Given the description of an element on the screen output the (x, y) to click on. 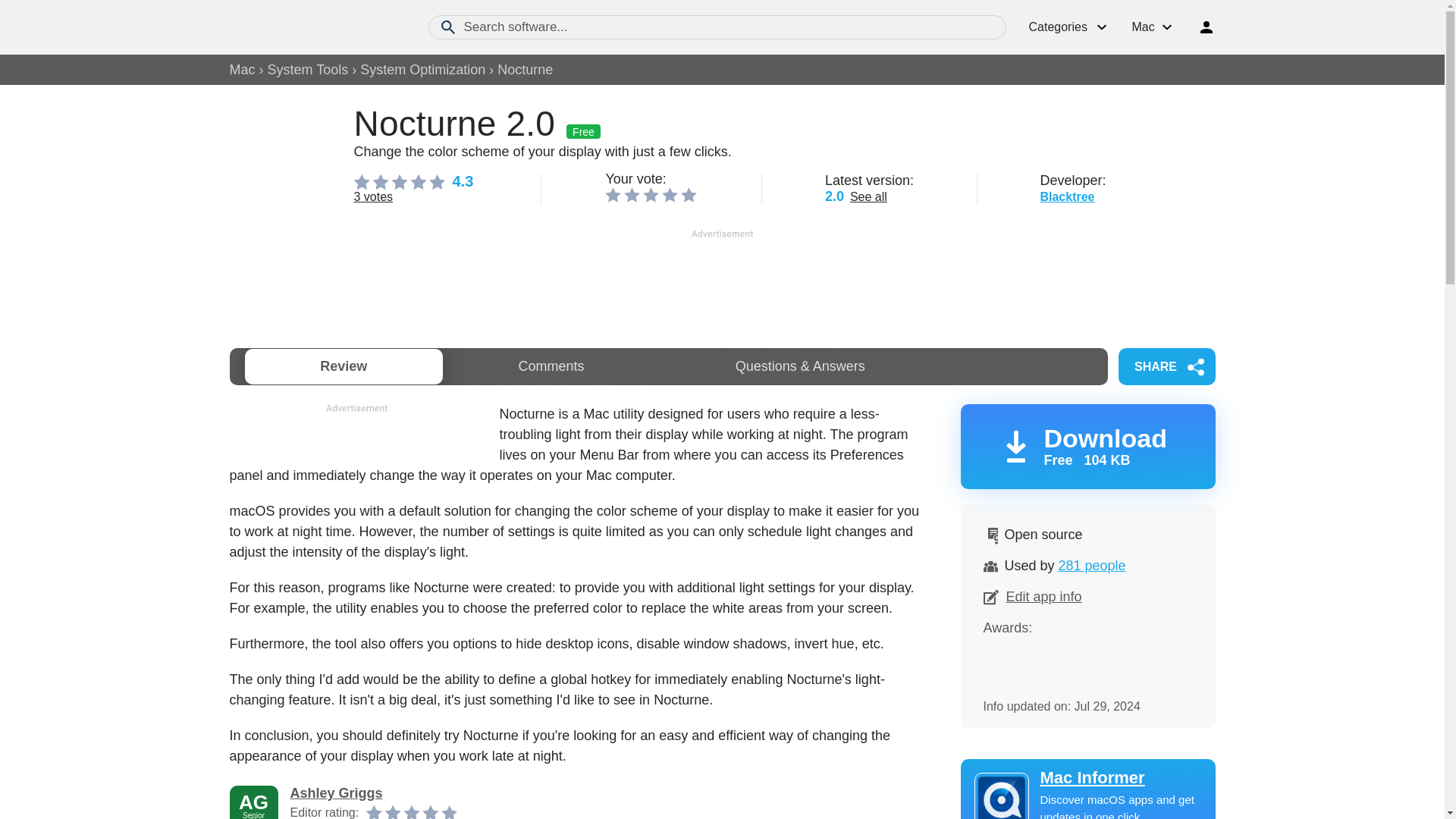
Review (343, 366)
3 (651, 193)
4 (670, 193)
Search software... (717, 27)
SHARE (1166, 366)
Search (447, 27)
1 (613, 193)
281 people (1091, 565)
Download Nocturne (1086, 446)
Nocturne (525, 69)
5 (688, 193)
Comments (550, 366)
System Tools (308, 69)
